Given the description of an element on the screen output the (x, y) to click on. 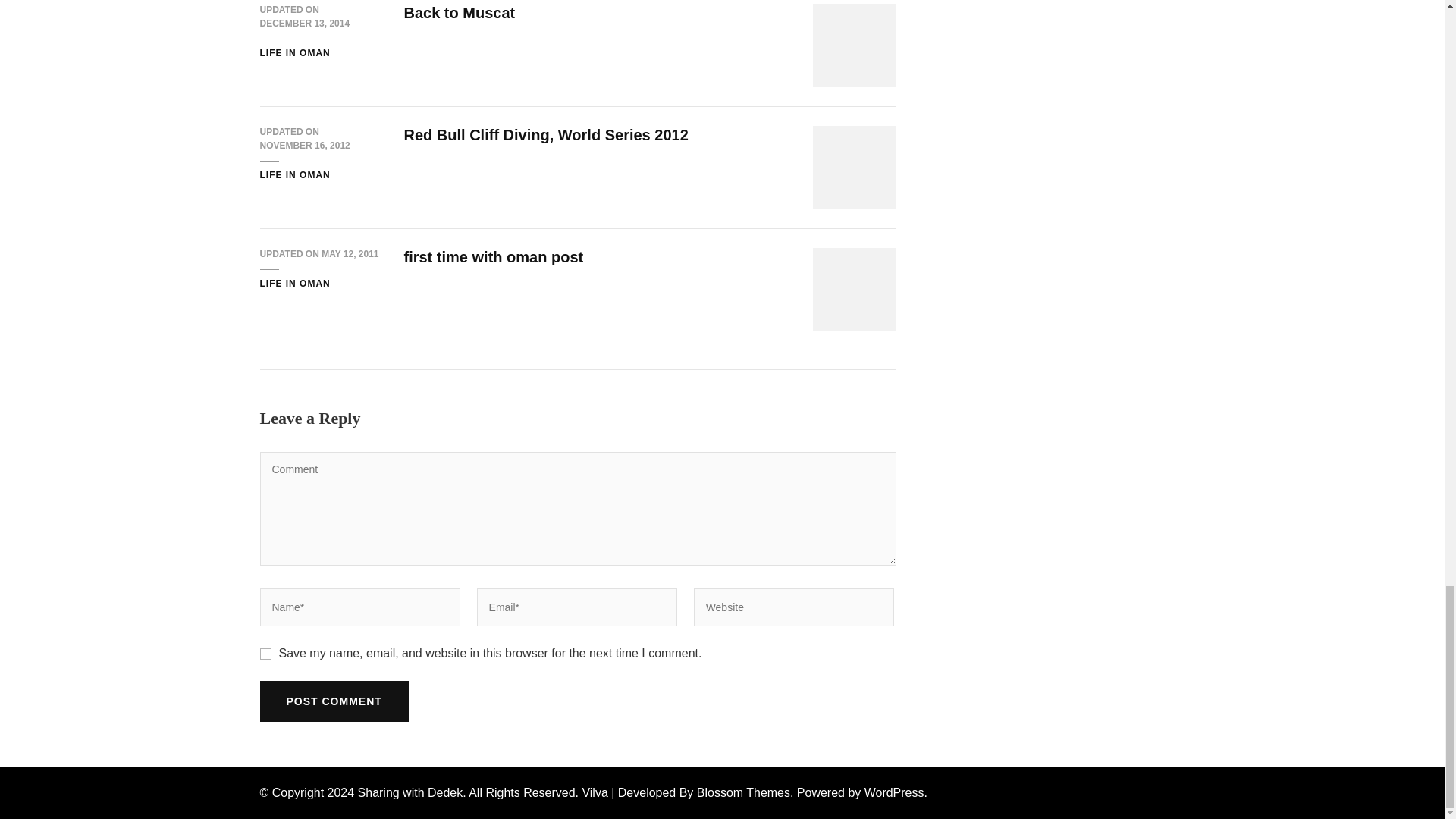
first time with oman post (493, 256)
LIFE IN OMAN (294, 53)
MAY 12, 2011 (349, 254)
LIFE IN OMAN (294, 284)
DECEMBER 13, 2014 (304, 24)
Post Comment (333, 700)
Back to Muscat (459, 12)
NOVEMBER 16, 2012 (304, 146)
Post Comment (333, 700)
Red Bull Cliff Diving, World Series 2012 (545, 134)
LIFE IN OMAN (294, 175)
